Given the description of an element on the screen output the (x, y) to click on. 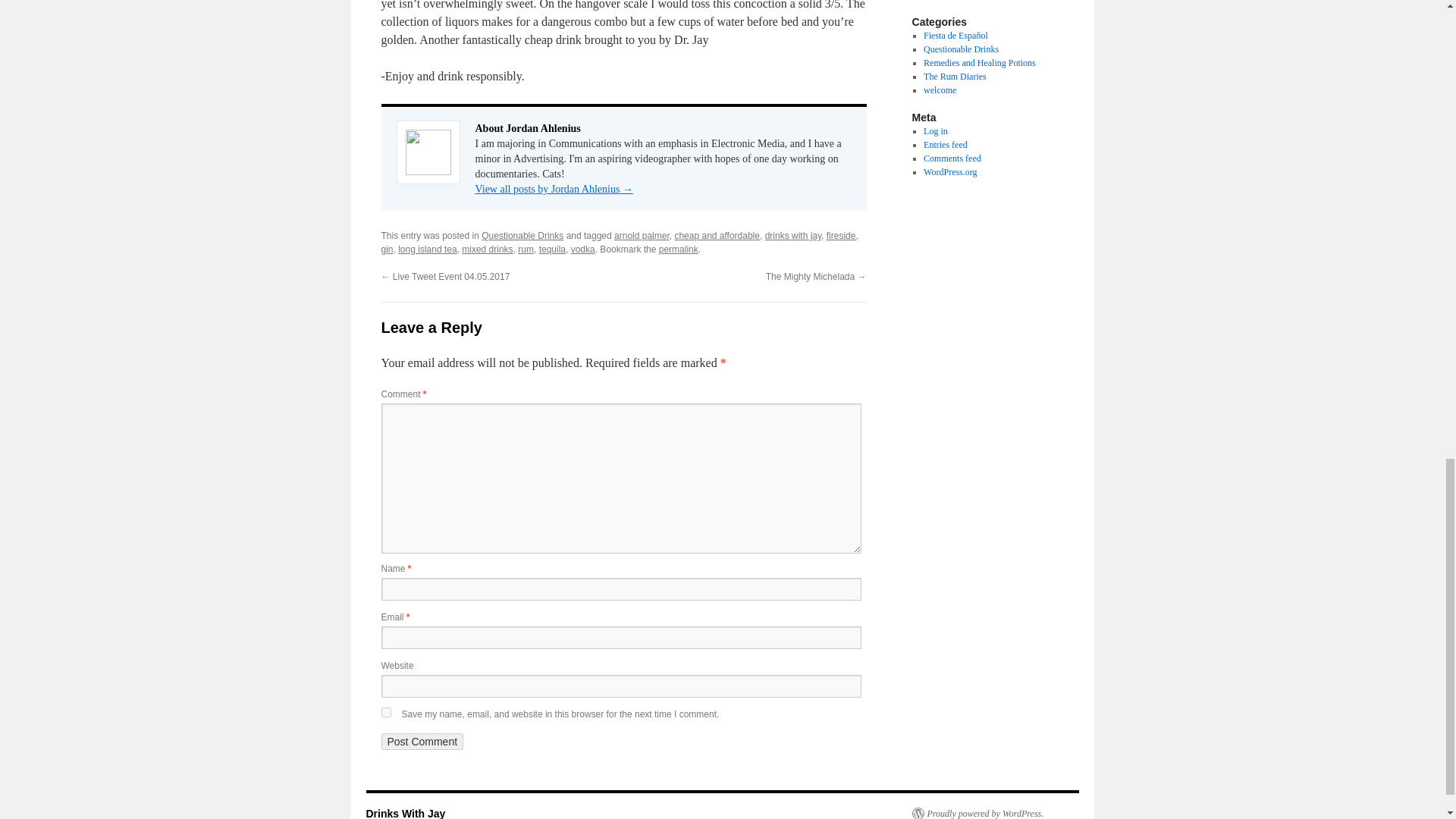
long island tea (427, 249)
tequila (552, 249)
drinks with jay (793, 235)
Questionable Drinks (522, 235)
gin (386, 249)
vodka (582, 249)
rum (526, 249)
arnold palmer (641, 235)
mixed drinks (486, 249)
Post Comment (421, 741)
